Given the description of an element on the screen output the (x, y) to click on. 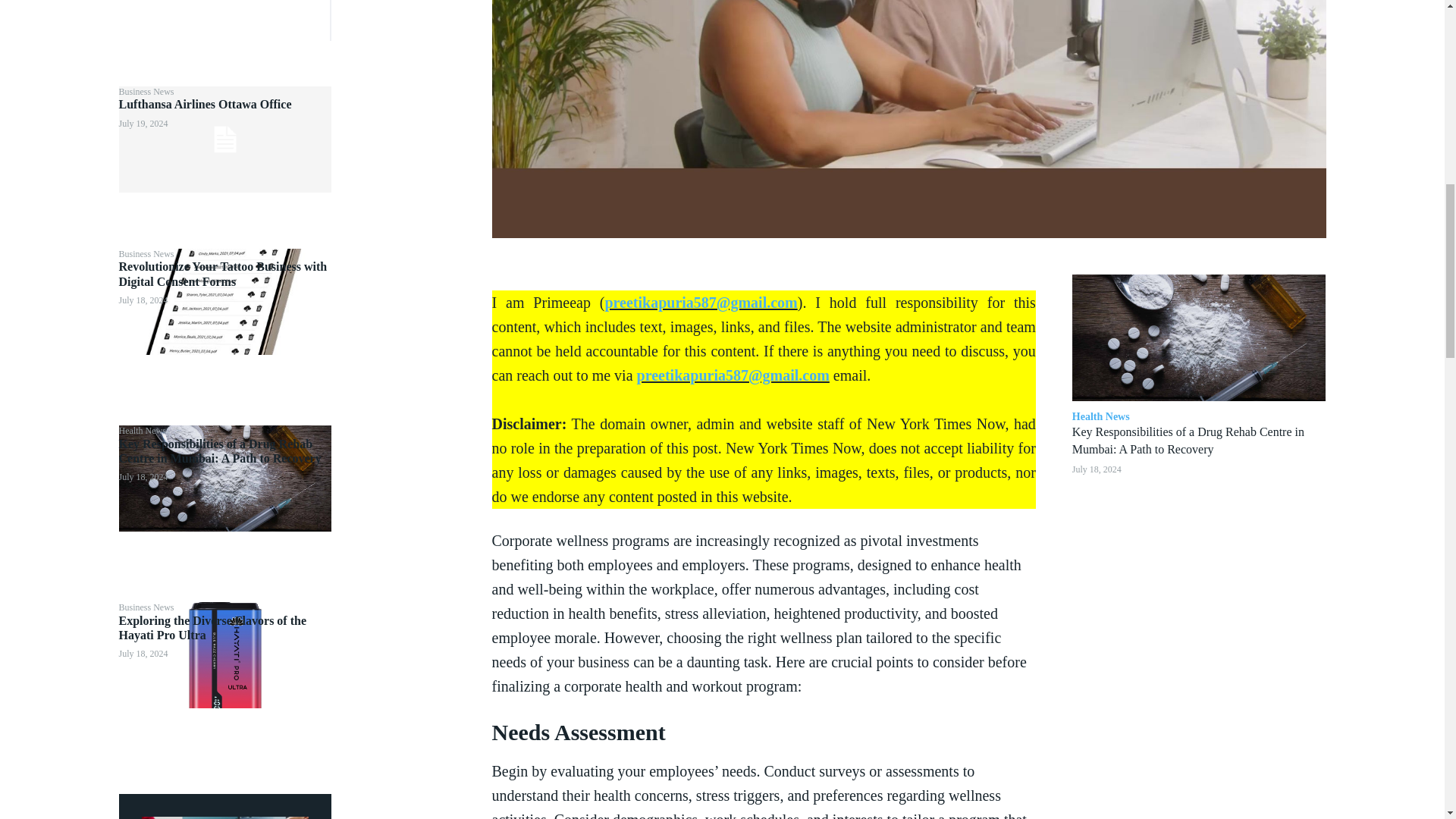
Lufthansa Airlines Ottawa Office (223, 139)
Lufthansa Airlines Ottawa Office (204, 103)
Implementing an Effective Employee Wellness Program (224, 817)
Advertisement (222, 20)
Exploring the Diverse Flavors of the Hayati Pro Ultra (223, 654)
Exploring the Diverse Flavors of the Hayati Pro Ultra (211, 627)
